Given the description of an element on the screen output the (x, y) to click on. 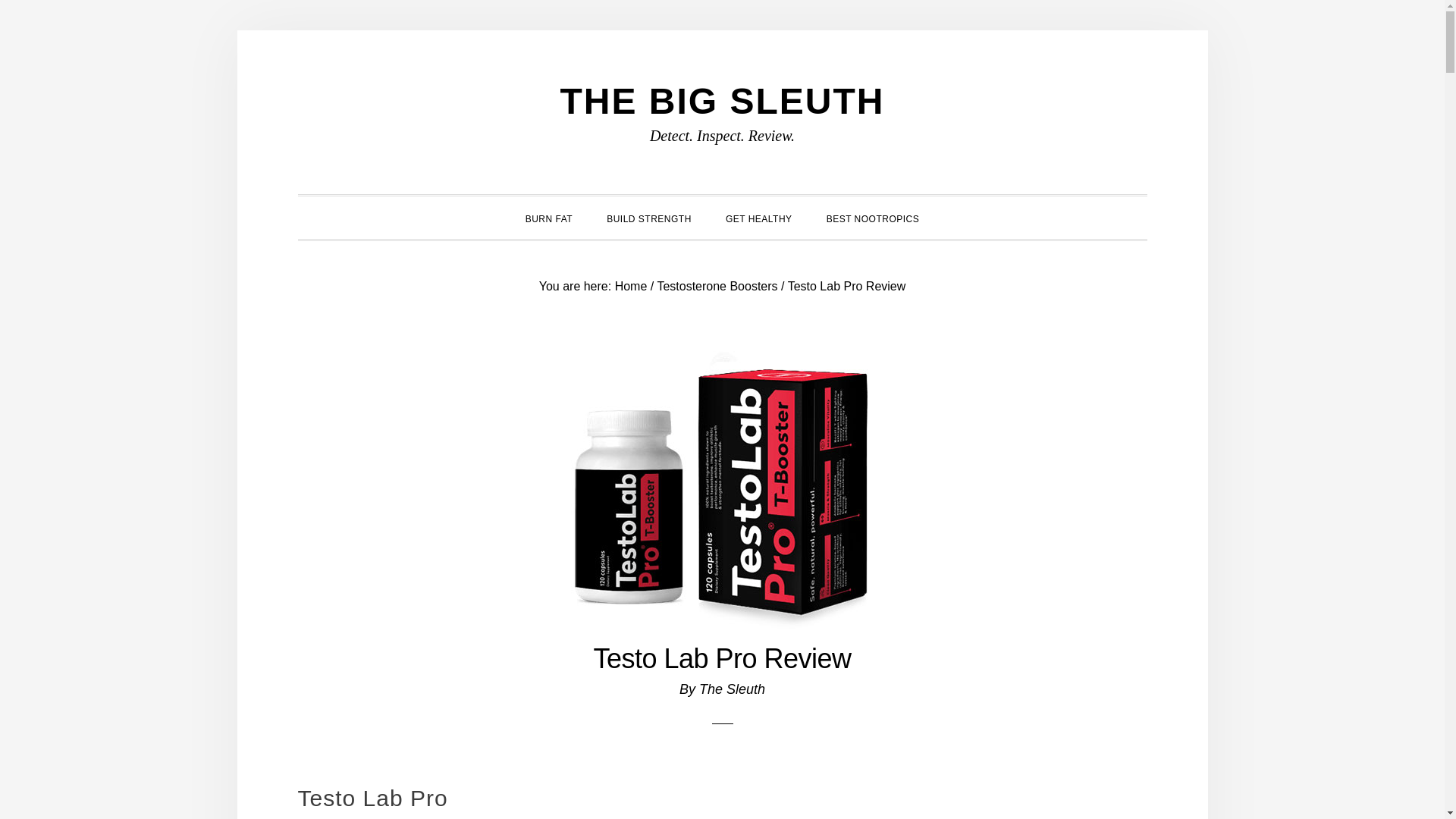
GET HEALTHY (759, 216)
THE BIG SLEUTH (721, 101)
Testosterone Boosters (716, 285)
Home (630, 285)
BEST NOOTROPICS (872, 216)
BURN FAT (549, 216)
BUILD STRENGTH (648, 216)
The Sleuth (731, 688)
